Given the description of an element on the screen output the (x, y) to click on. 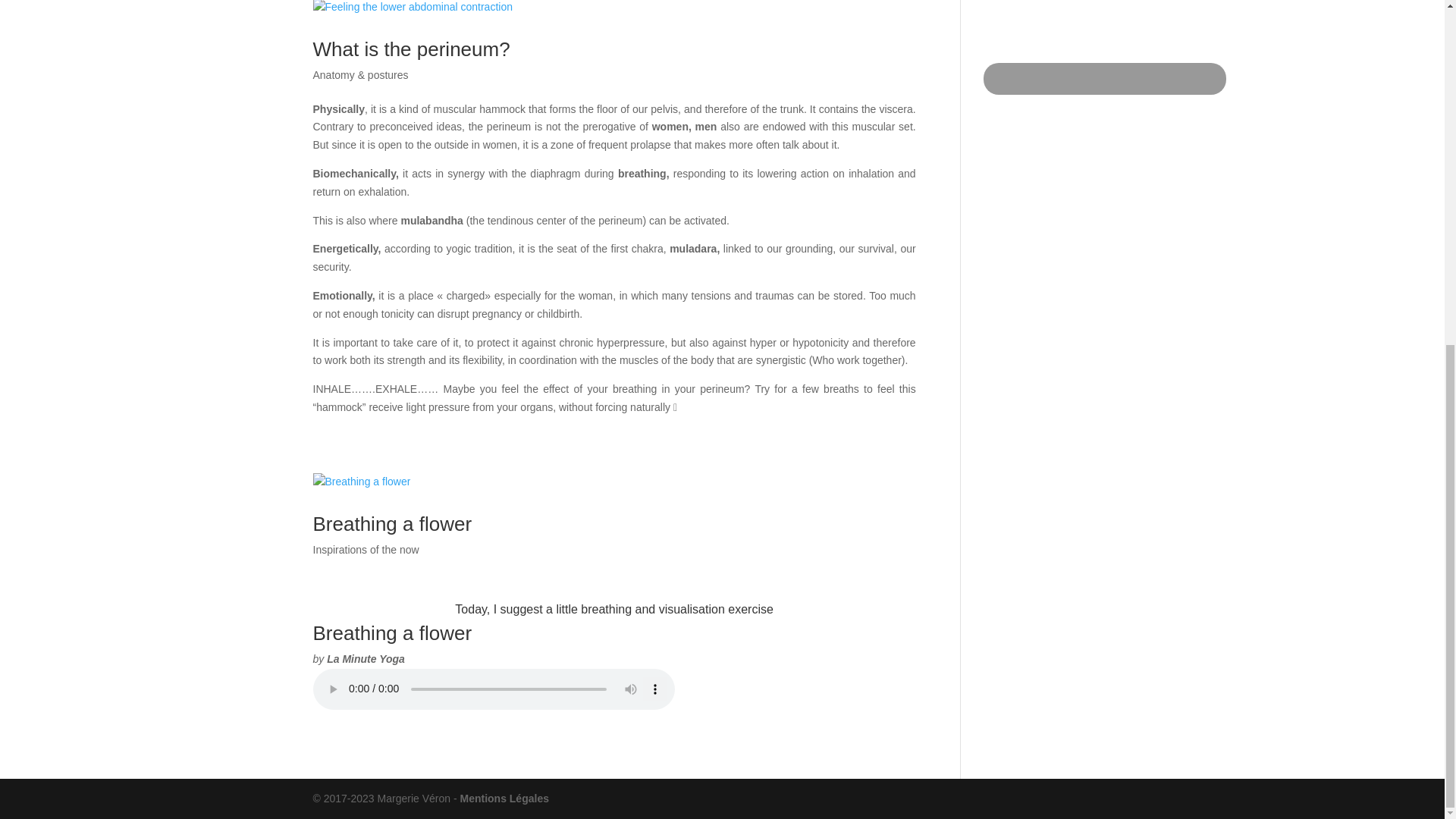
Breathing a flower (392, 523)
Inspirations of the now (366, 548)
YouTube (1104, 42)
What is the perineum? (411, 48)
YouTube (1104, 79)
